Given the description of an element on the screen output the (x, y) to click on. 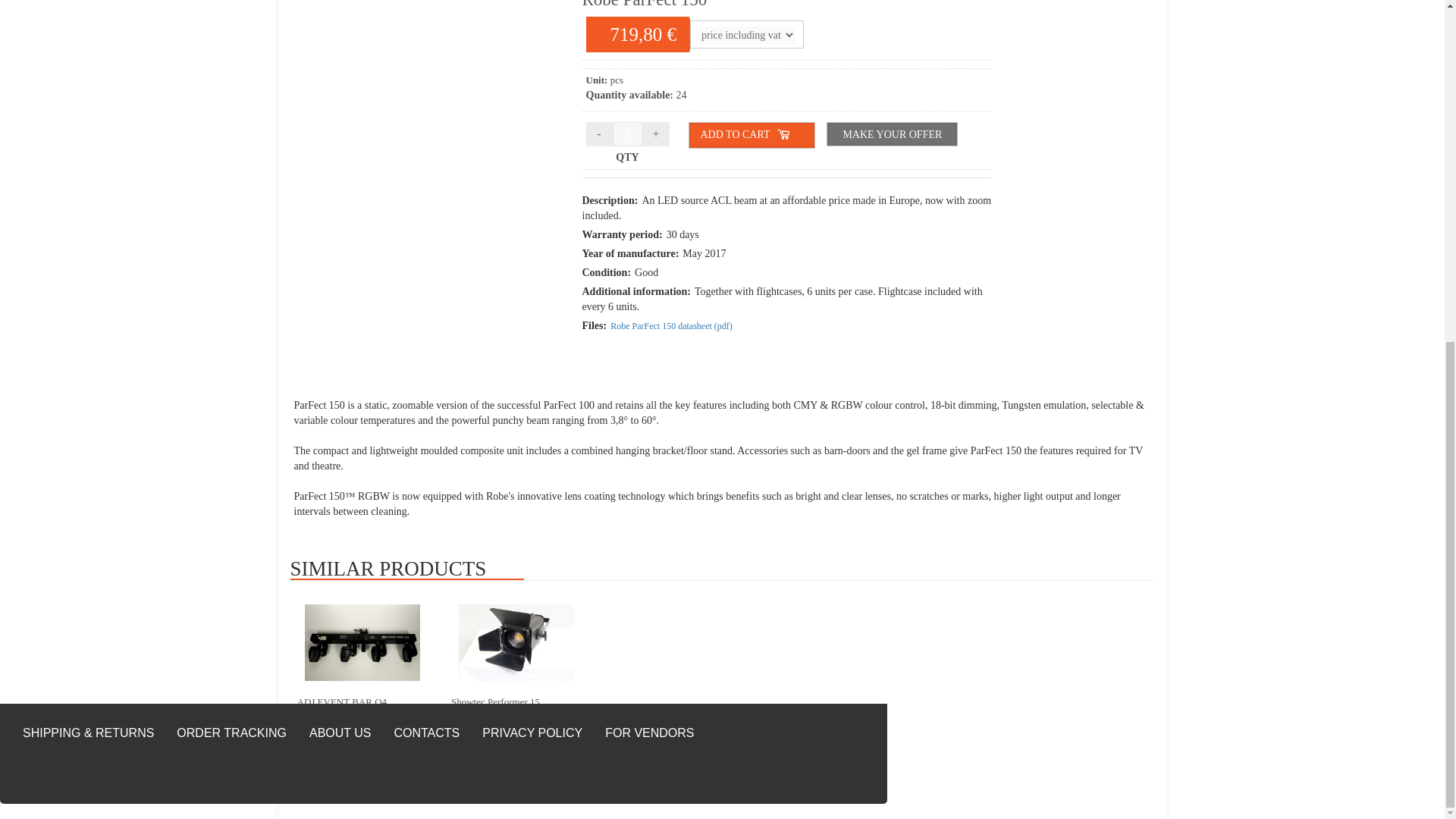
1 (627, 134)
